Given the description of an element on the screen output the (x, y) to click on. 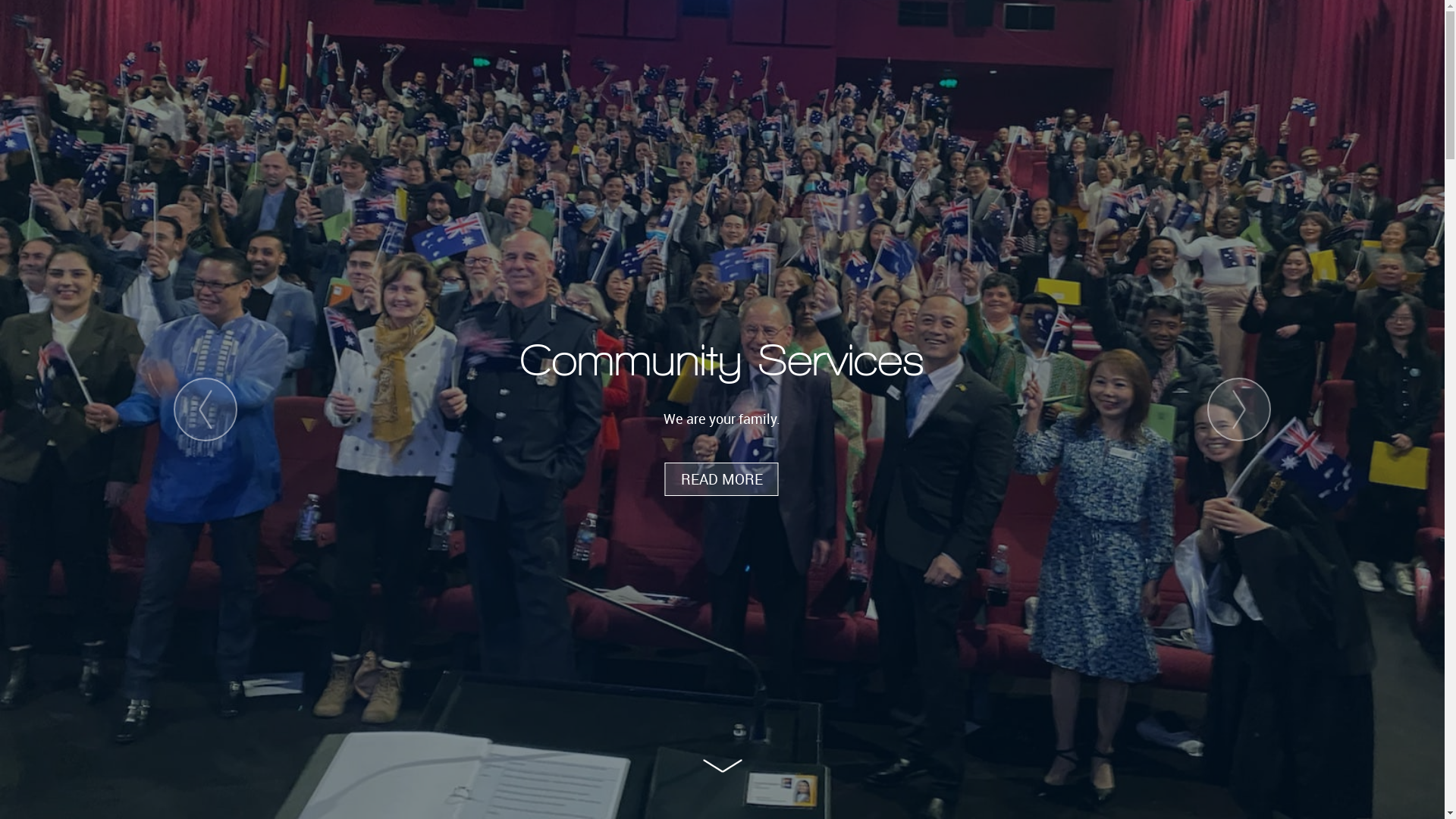
READ MORE Element type: text (721, 478)
